Given the description of an element on the screen output the (x, y) to click on. 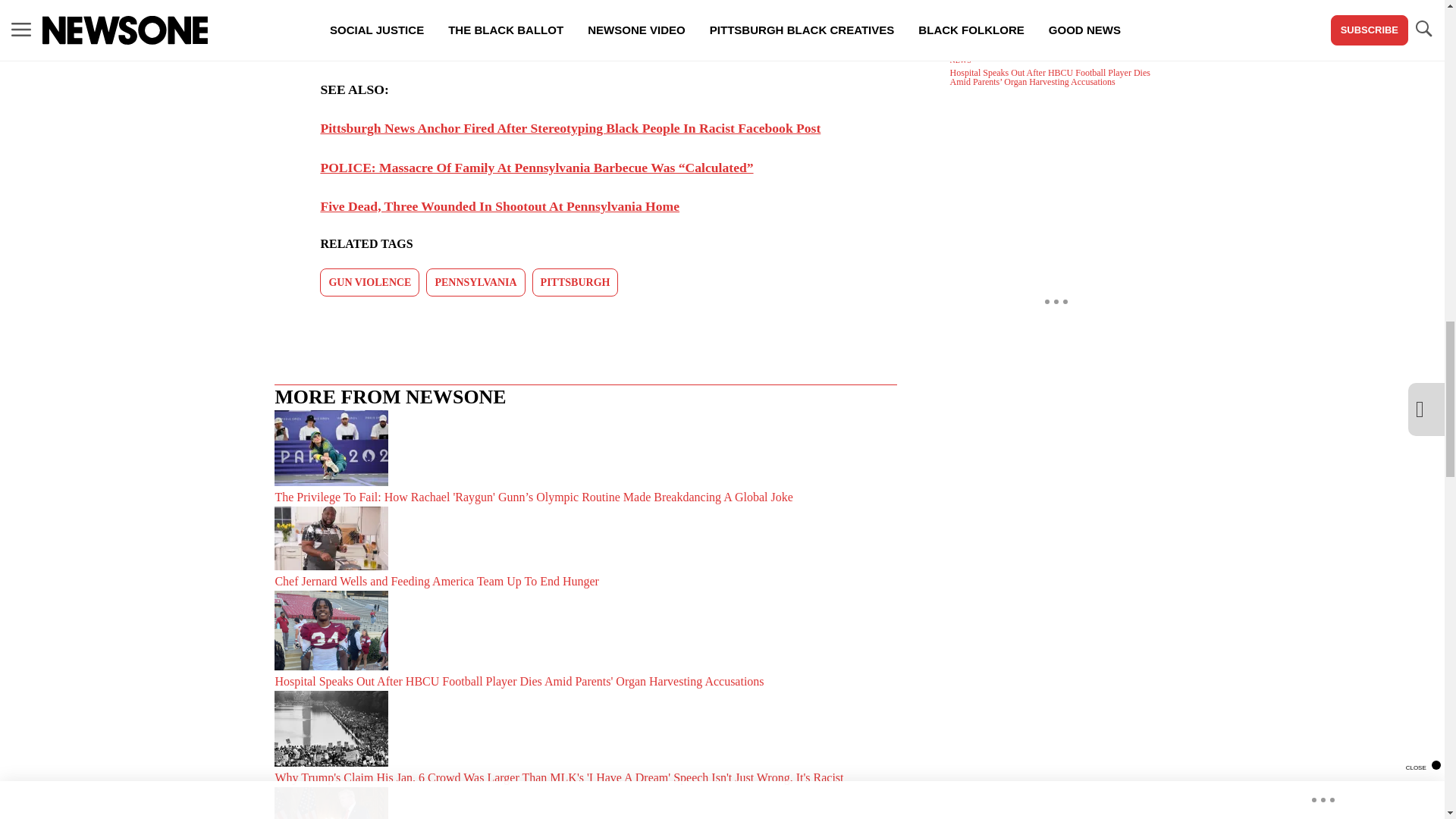
The Washington Post (444, 49)
Five Dead, Three Wounded In Shootout At Pennsylvania Home (499, 206)
GUN VIOLENCE (369, 282)
Chef Jernard Wells and Feeding America Team Up To End Hunger (585, 548)
PITTSBURGH (575, 282)
PENNSYLVANIA (475, 282)
